Given the description of an element on the screen output the (x, y) to click on. 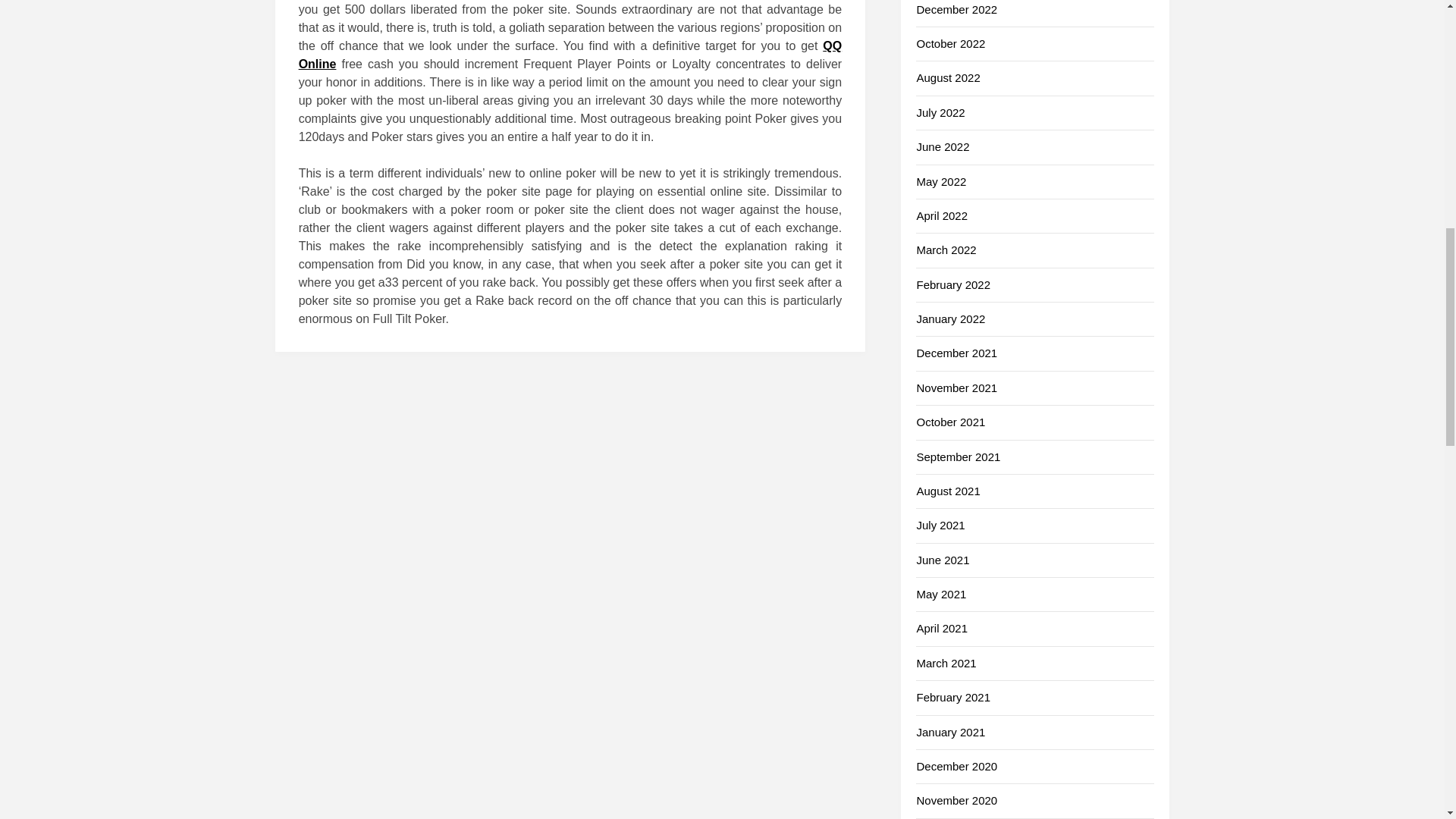
February 2022 (952, 284)
October 2022 (950, 42)
July 2021 (939, 524)
June 2021 (942, 559)
July 2022 (939, 112)
August 2022 (947, 77)
June 2022 (942, 146)
December 2022 (956, 9)
QQ Online (570, 54)
December 2020 (956, 766)
May 2022 (940, 181)
March 2022 (945, 249)
January 2022 (950, 318)
November 2021 (956, 387)
February 2021 (952, 697)
